Given the description of an element on the screen output the (x, y) to click on. 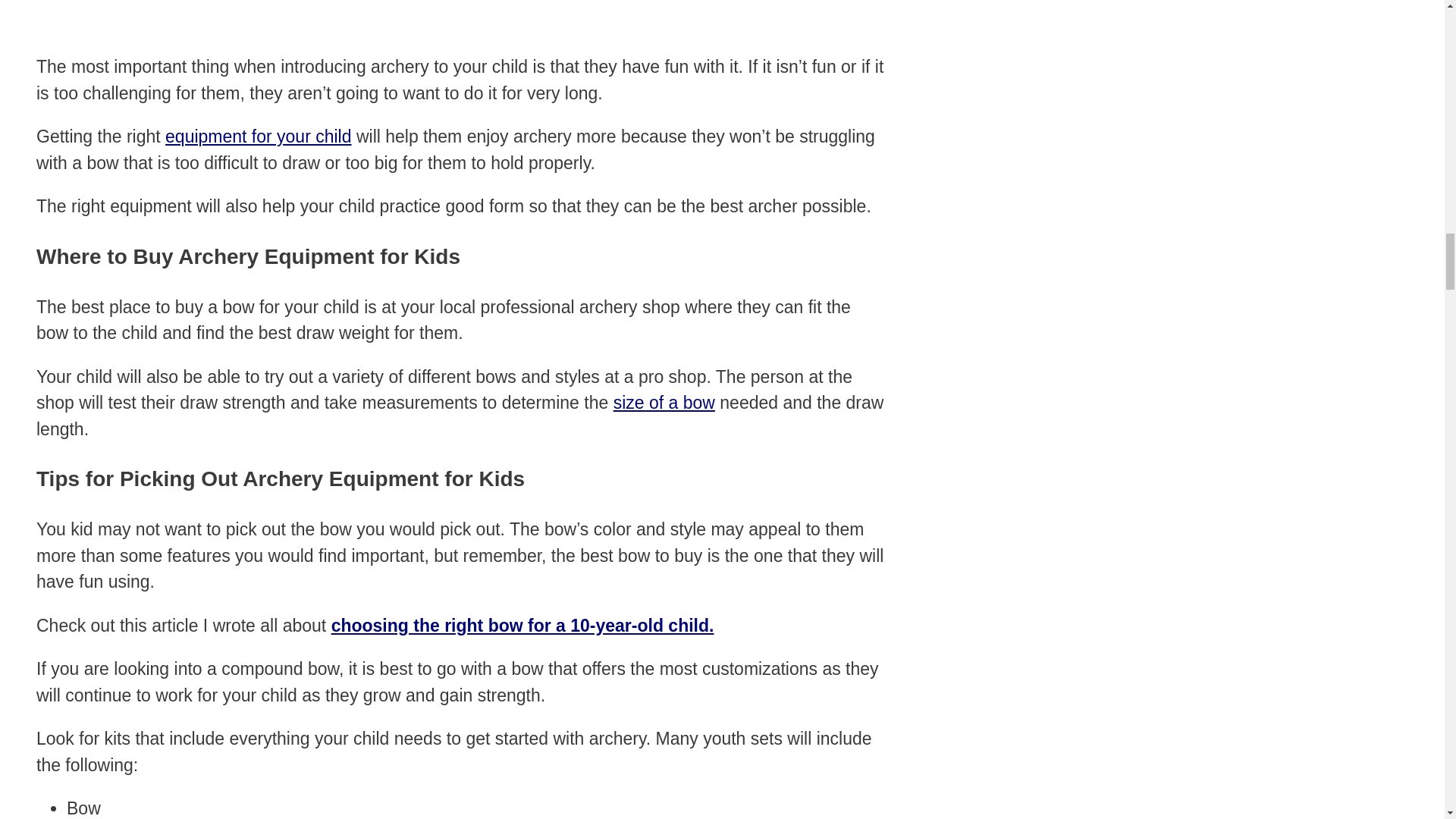
choosing the right bow for a 10-year-old child. (522, 625)
equipment for your child (257, 136)
size of a bow (663, 402)
